Given the description of an element on the screen output the (x, y) to click on. 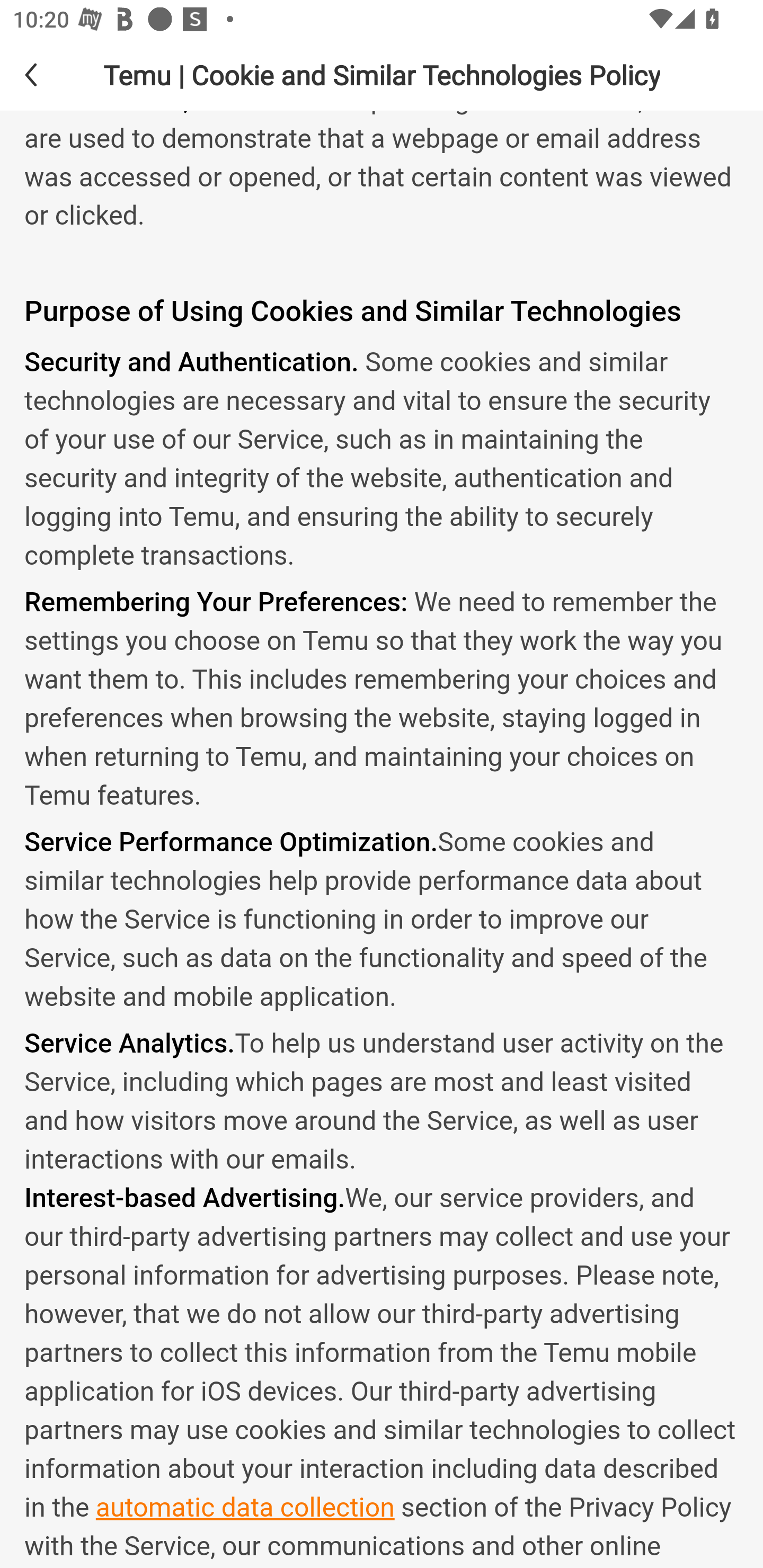
Back back (46, 74)
automatic data collection (245, 1508)
